Given the description of an element on the screen output the (x, y) to click on. 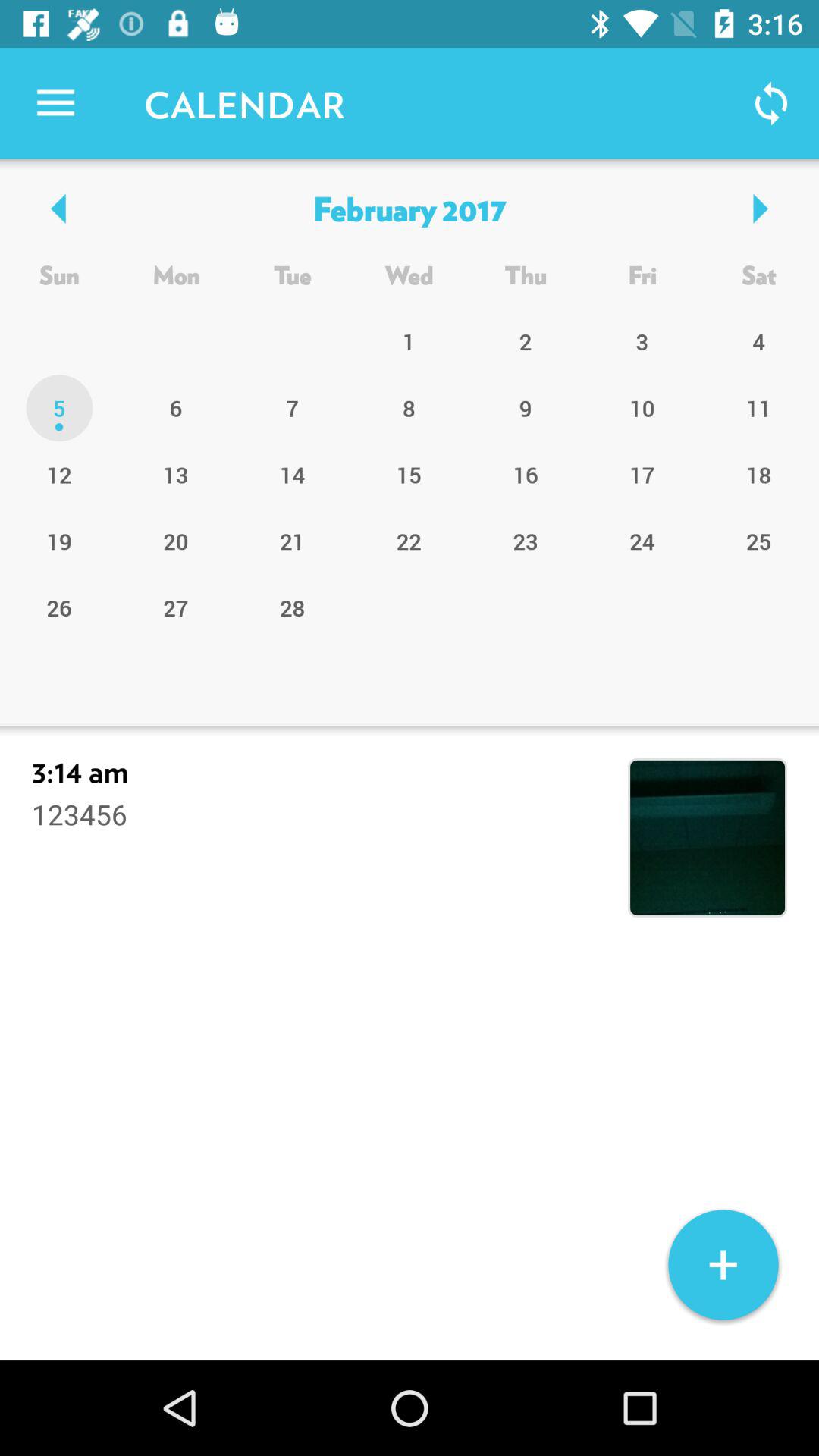
press the icon next to the 9 (408, 474)
